Given the description of an element on the screen output the (x, y) to click on. 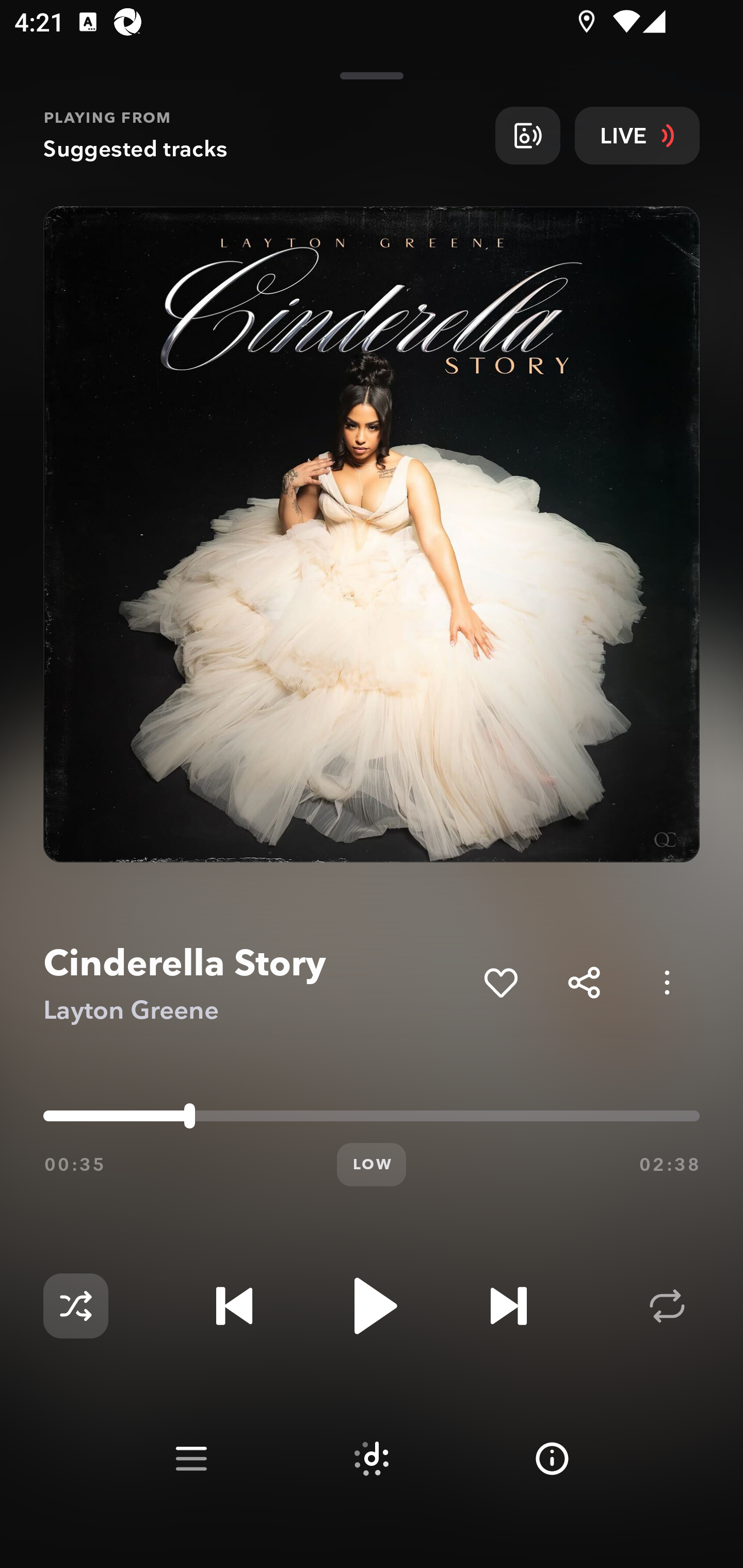
Broadcast (527, 135)
LIVE (637, 135)
PLAYING FROM Suggested tracks (261, 135)
Cinderella Story Layton Greene (255, 983)
Add to My Collection (500, 982)
Share (583, 982)
Options (666, 982)
LOW (371, 1164)
Play (371, 1306)
Previous (234, 1306)
Next (508, 1306)
Shuffle enabled (75, 1306)
Repeat Off (666, 1306)
Play queue (191, 1458)
Suggested tracks (371, 1458)
Info (551, 1458)
